Given the description of an element on the screen output the (x, y) to click on. 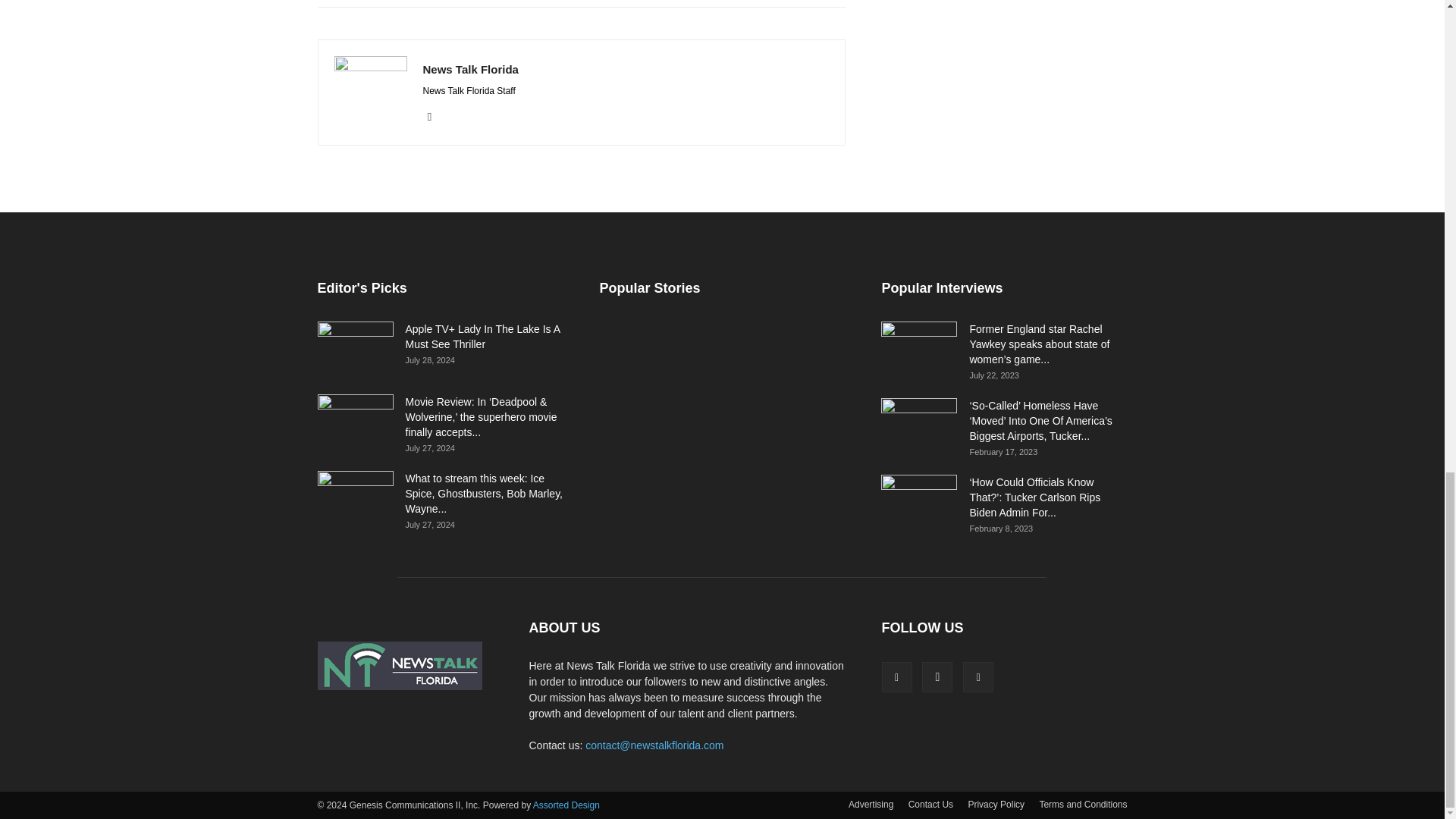
Twitter (435, 116)
